Given the description of an element on the screen output the (x, y) to click on. 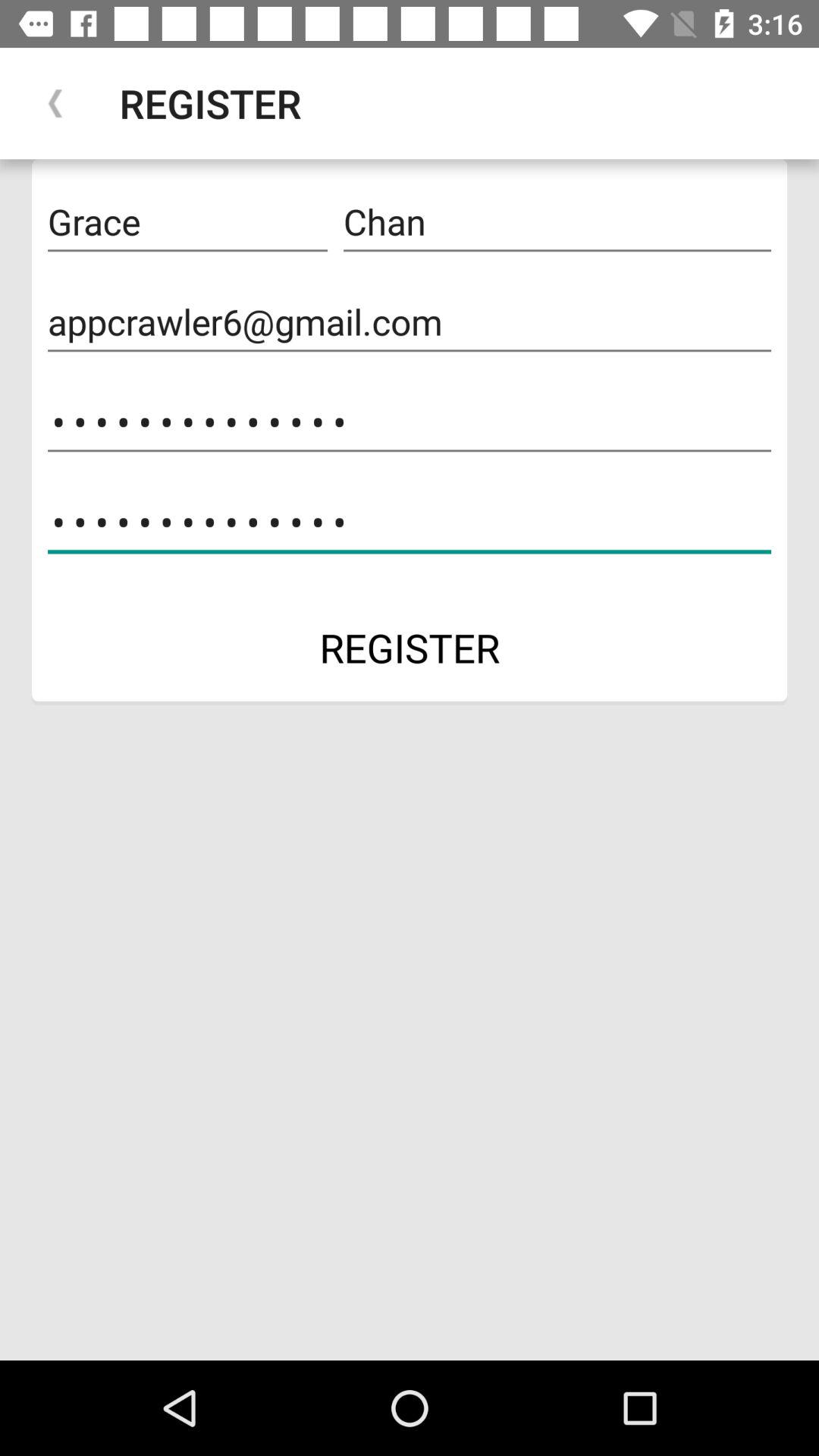
swipe until the chan (557, 222)
